Given the description of an element on the screen output the (x, y) to click on. 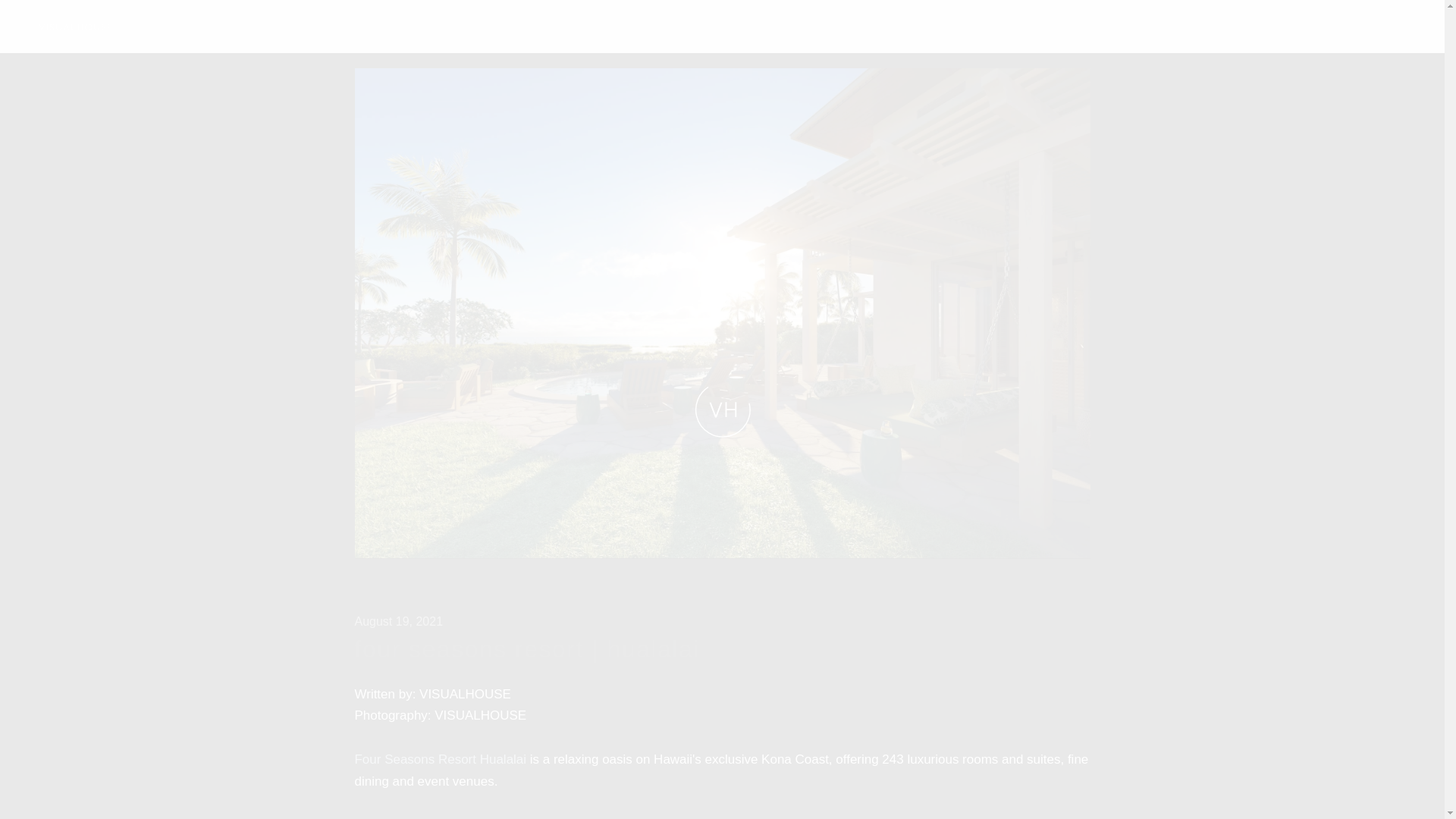
Four Seasons Resort Hualalai (441, 759)
VISUALHOUSE (75, 26)
August 19, 2021 (399, 621)
